Given the description of an element on the screen output the (x, y) to click on. 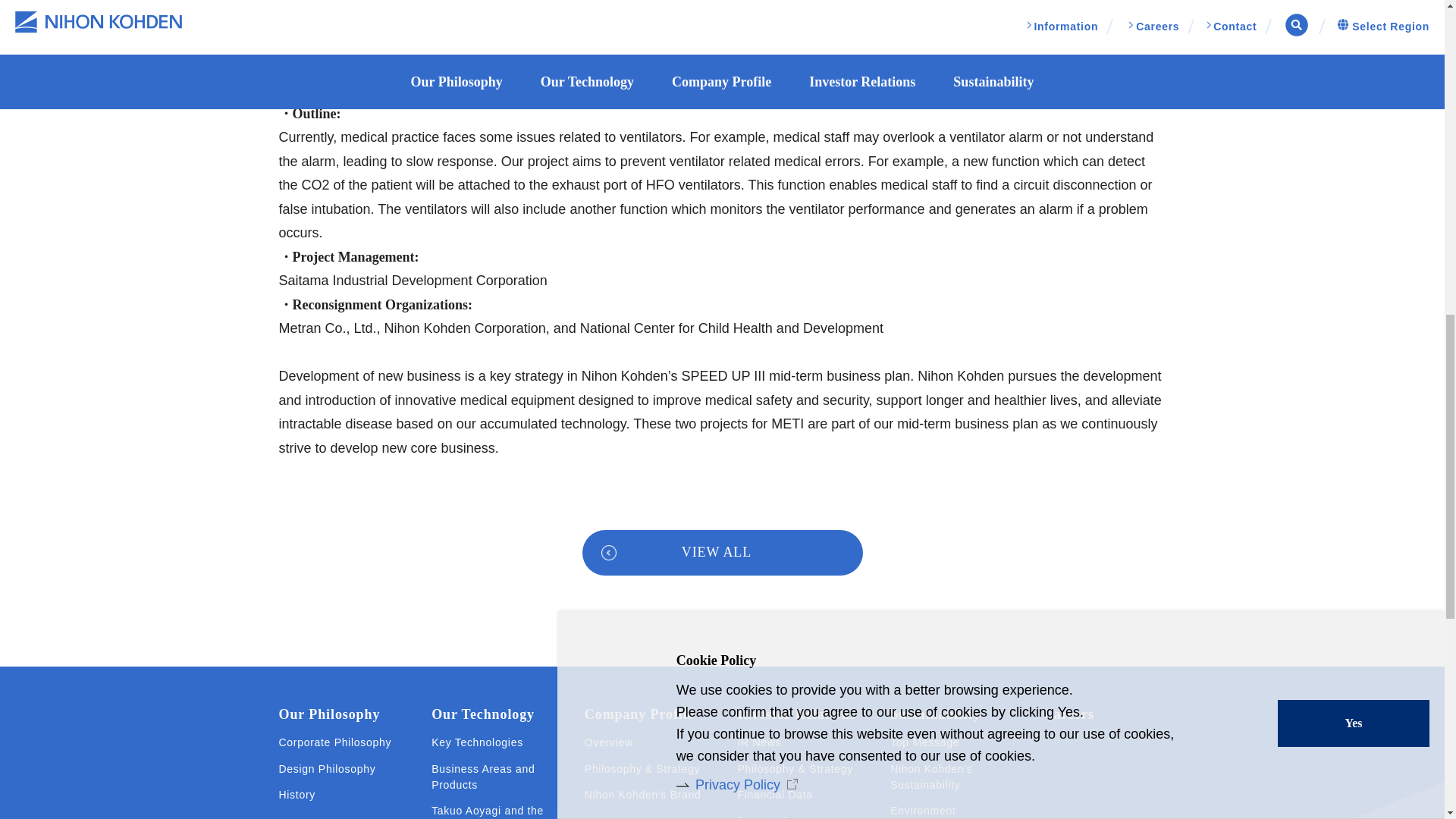
VIEW ALL (722, 552)
Corporate Philosophy (335, 742)
Takuo Aoyagi and the pulse oximeter (492, 811)
Business Areas and Products (492, 777)
Key Technologies (476, 742)
Our Technology (482, 714)
History (297, 795)
Design Philosophy (327, 769)
Our Philosophy (329, 714)
